Given the description of an element on the screen output the (x, y) to click on. 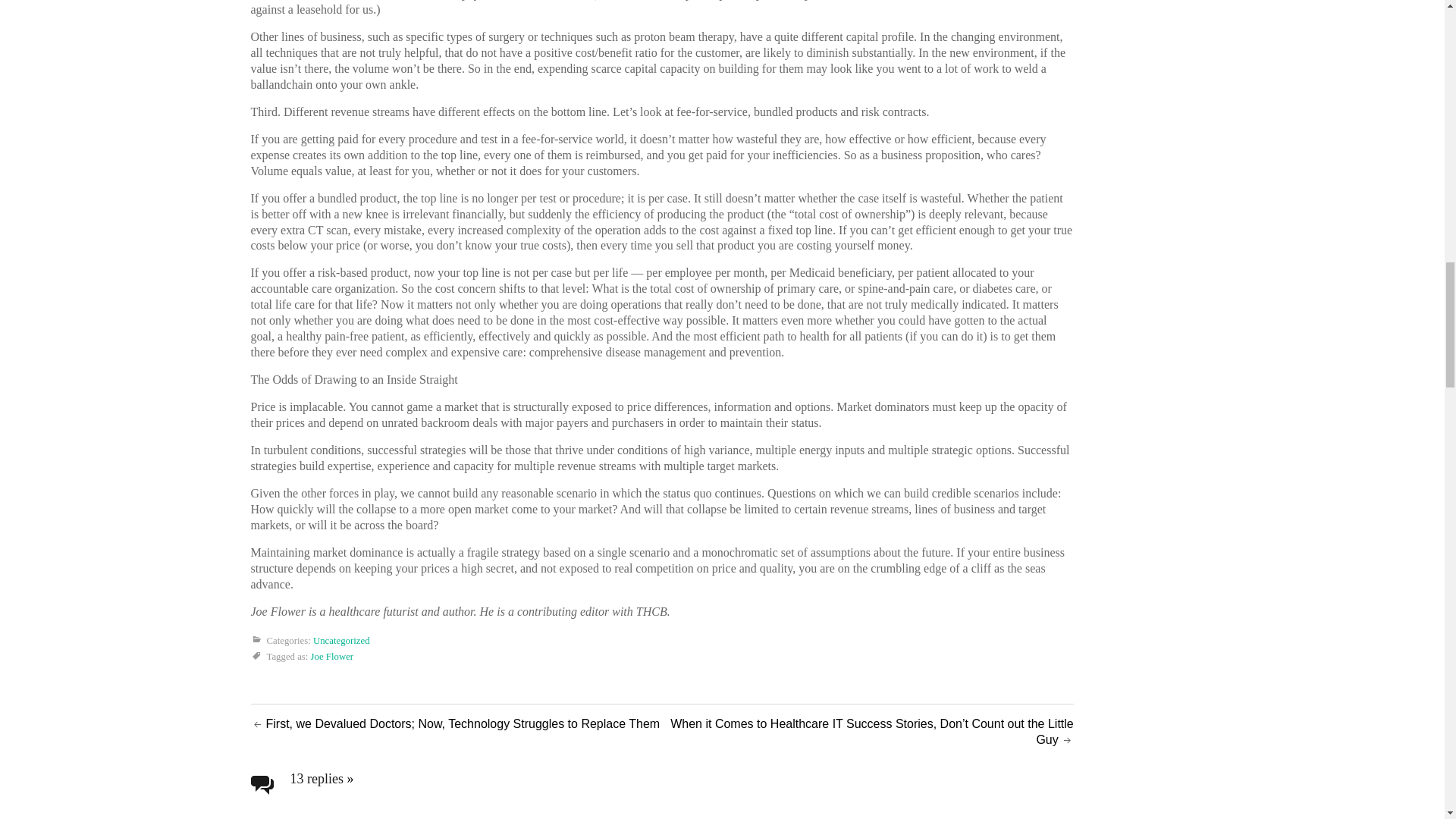
Joe Flower (332, 656)
Uncategorized (341, 640)
